Given the description of an element on the screen output the (x, y) to click on. 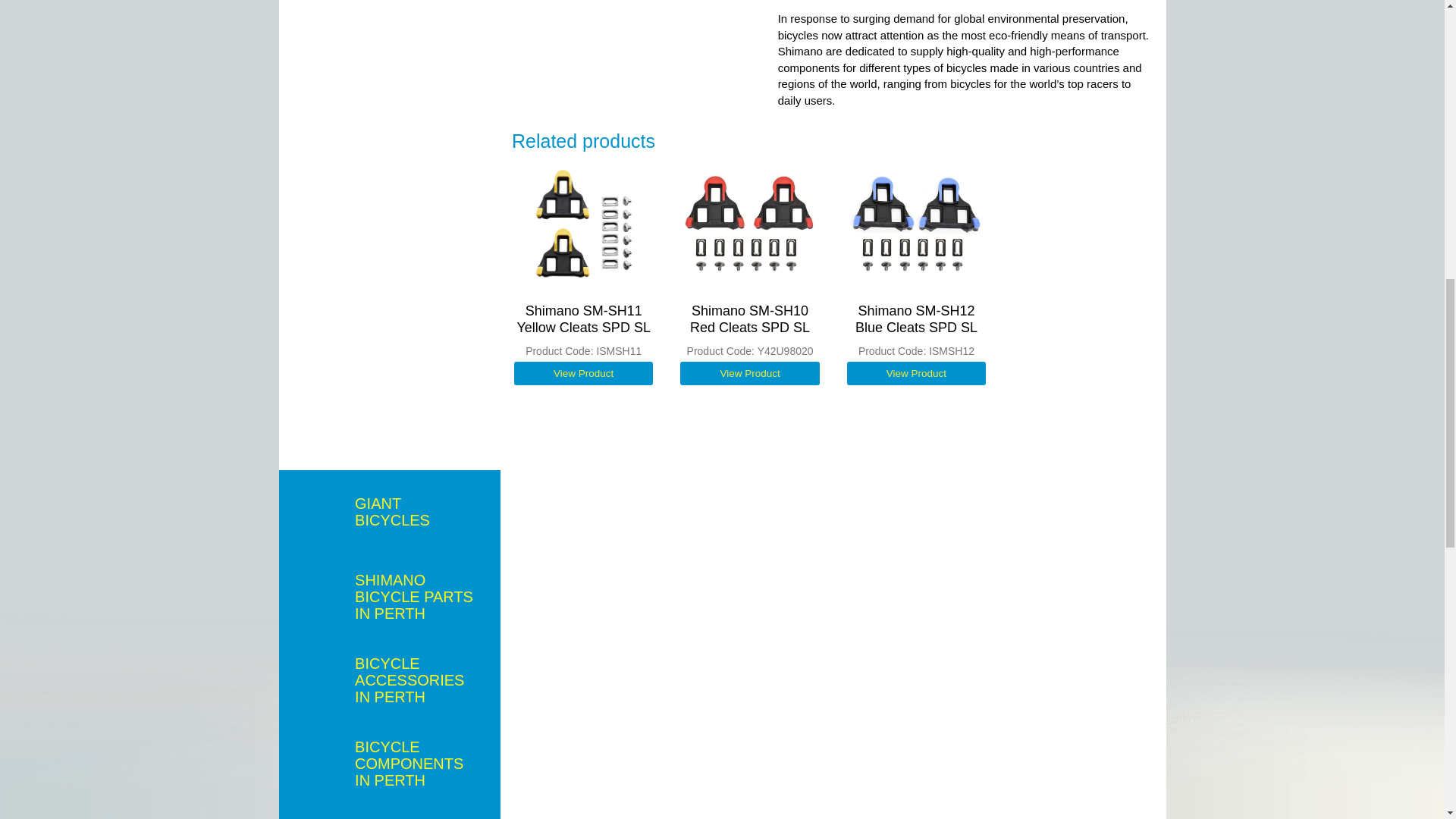
Shimano SM-SH12 Blue Cleats SPD SL (916, 223)
Shimano SM-SH11 Yellow Cleats SPD SL (583, 223)
Bicycle Components in Perth (389, 761)
Bicycle Accessories in Perth (389, 678)
Giant Bicycles (389, 511)
Shimano SM-SH10 Red Cleats SPD SL (749, 223)
Shimano Bicycle Parts in Perth (389, 595)
